Given the description of an element on the screen output the (x, y) to click on. 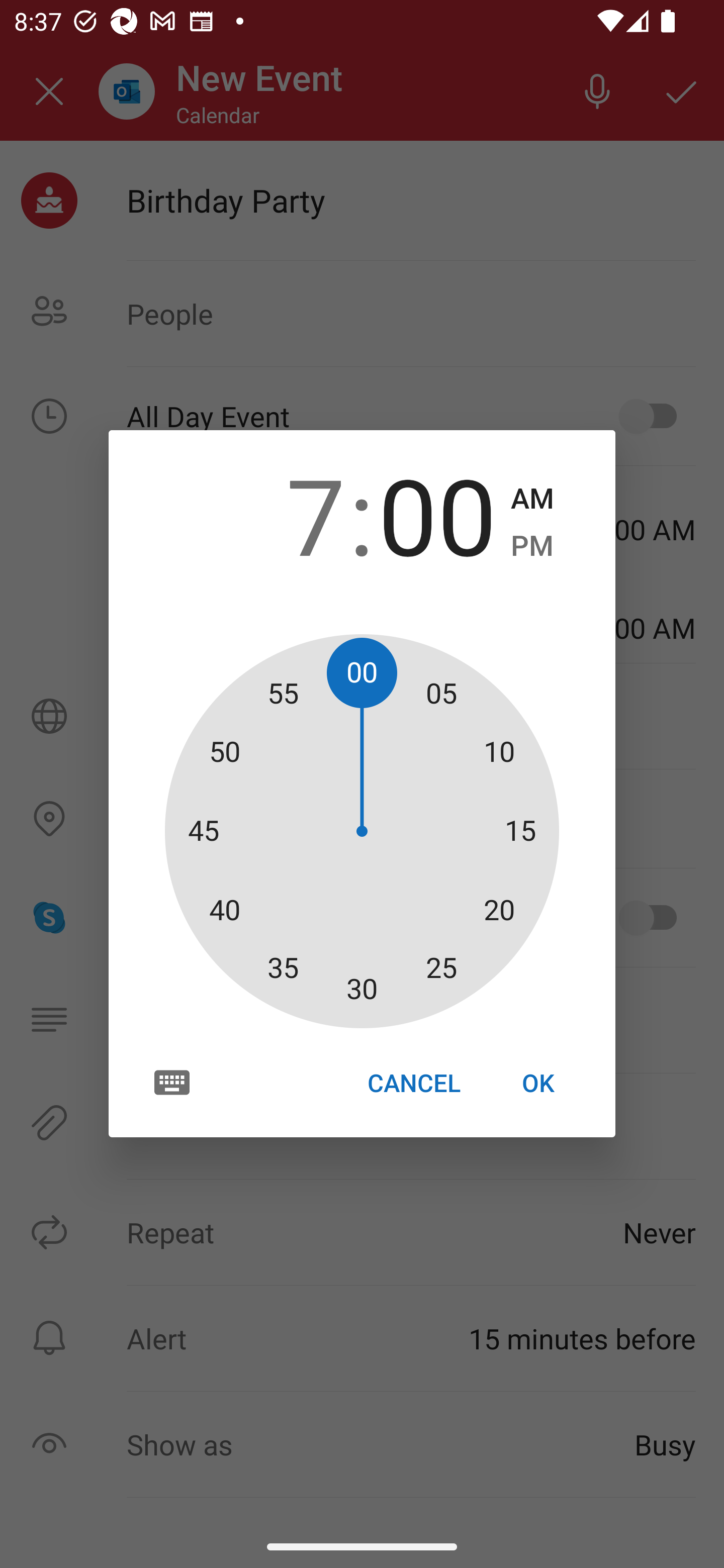
7 (285, 513)
00 (436, 513)
AM (532, 498)
PM (532, 546)
CANCEL (413, 1082)
OK (537, 1082)
Switch to text input mode for the time input. (171, 1081)
